Given the description of an element on the screen output the (x, y) to click on. 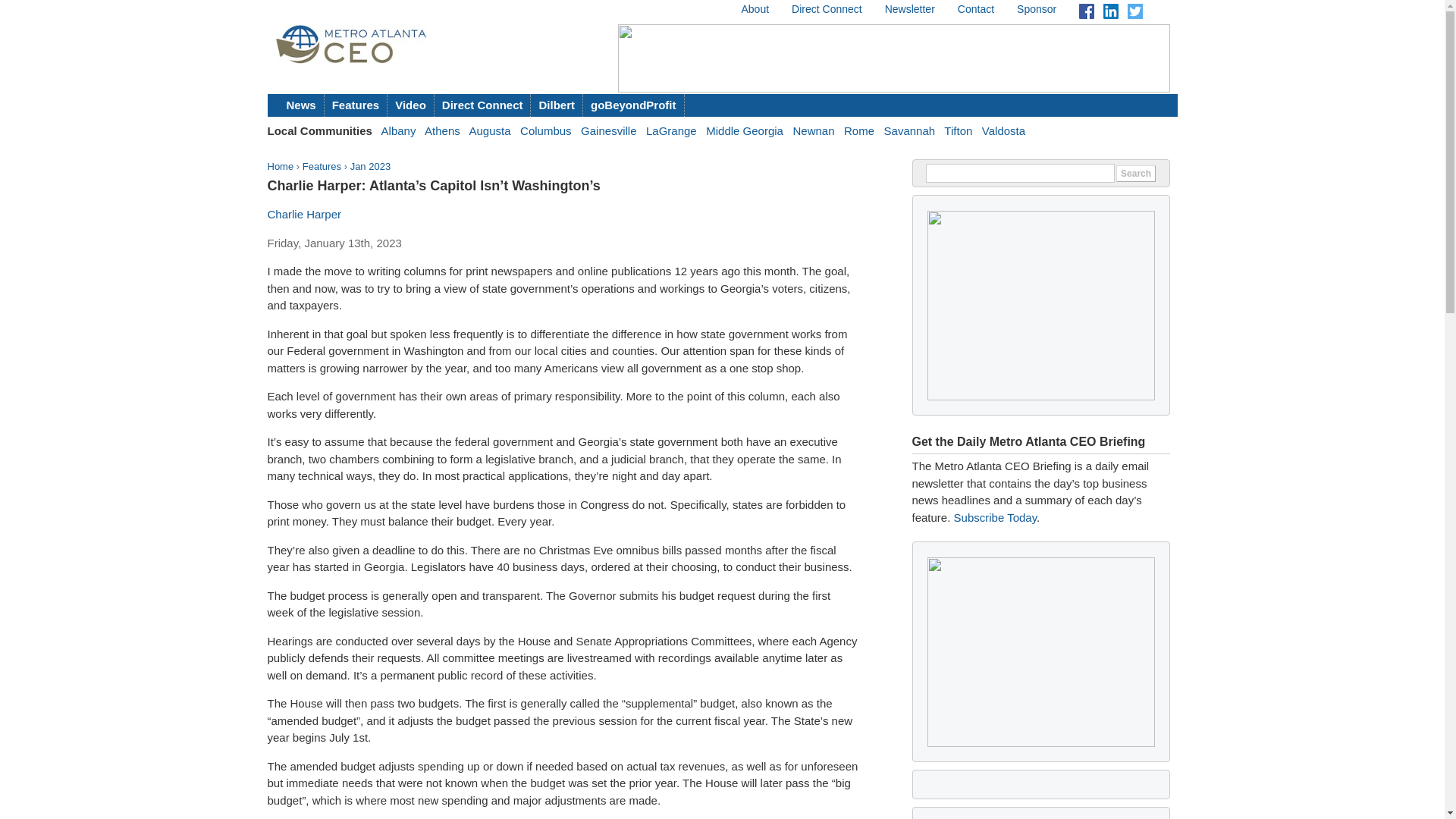
Albany (398, 130)
News (301, 105)
Contact (976, 9)
Savannah (909, 130)
Search (1136, 173)
Features (321, 165)
Home (280, 165)
Charlie Harper (303, 214)
Search (1136, 173)
Valdosta (1003, 130)
